Given the description of an element on the screen output the (x, y) to click on. 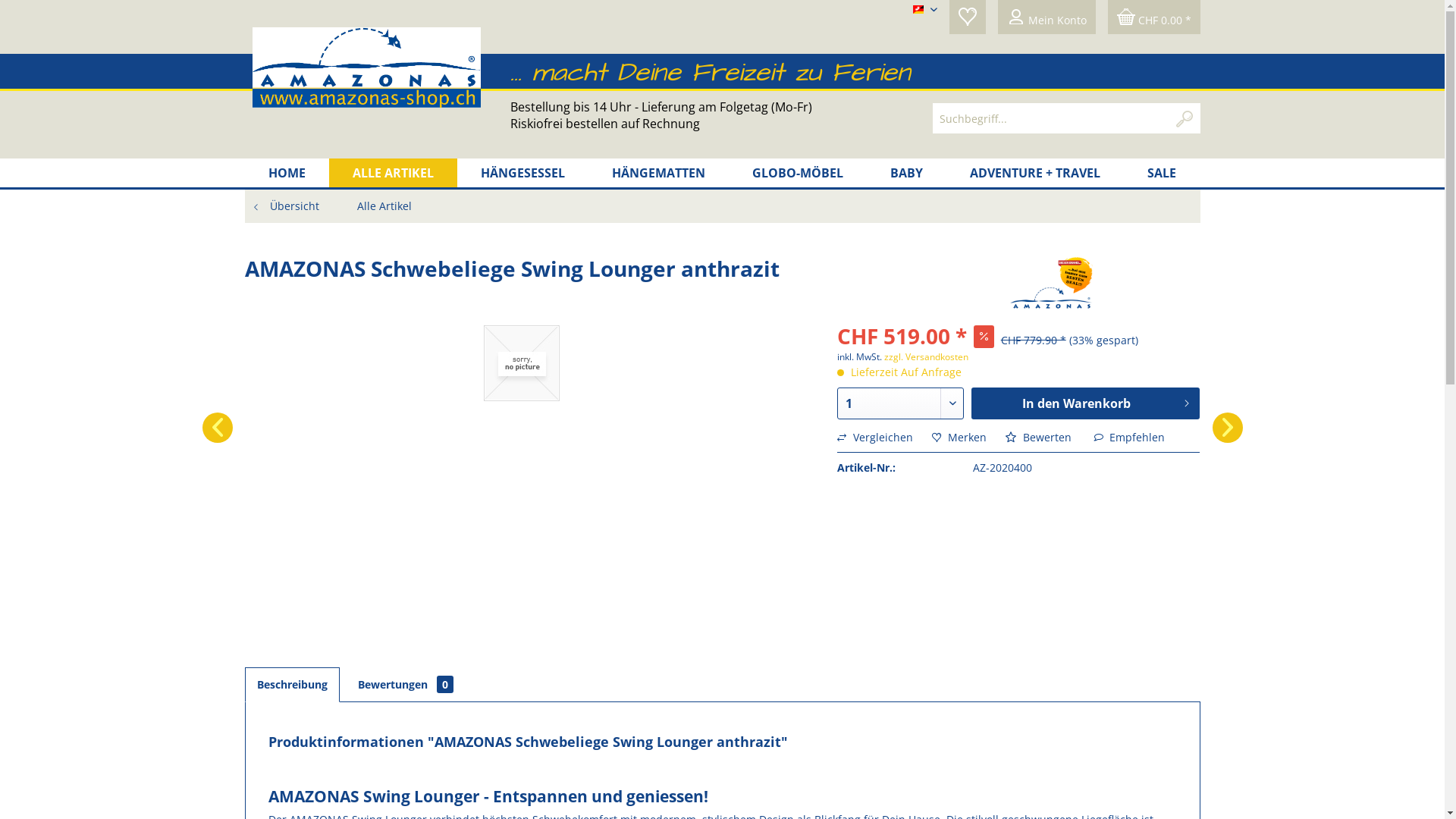
ADVENTURE + TRAVEL Element type: text (1034, 172)
Beschreibung Element type: text (291, 684)
Empfehlen Element type: text (1128, 436)
ALLE ARTIKEL Element type: text (393, 172)
HOME Element type: text (286, 172)
Bewerten Element type: text (1038, 436)
Merken Element type: text (958, 436)
CHF 0.00 * Element type: text (1153, 17)
Merkzettel Element type: hover (967, 17)
Mein Konto Element type: text (1046, 17)
Bewertungen 0 Element type: text (404, 685)
BABY Element type: text (906, 172)
Alle Artikel Element type: text (383, 205)
Vergleichen Element type: text (875, 436)
SALE Element type: text (1161, 172)
Amazonas-Shop.ch - zur Startseite wechseln Element type: hover (365, 74)
zzgl. Versandkosten Element type: text (926, 356)
In den Warenkorb Element type: text (1085, 403)
